Given the description of an element on the screen output the (x, y) to click on. 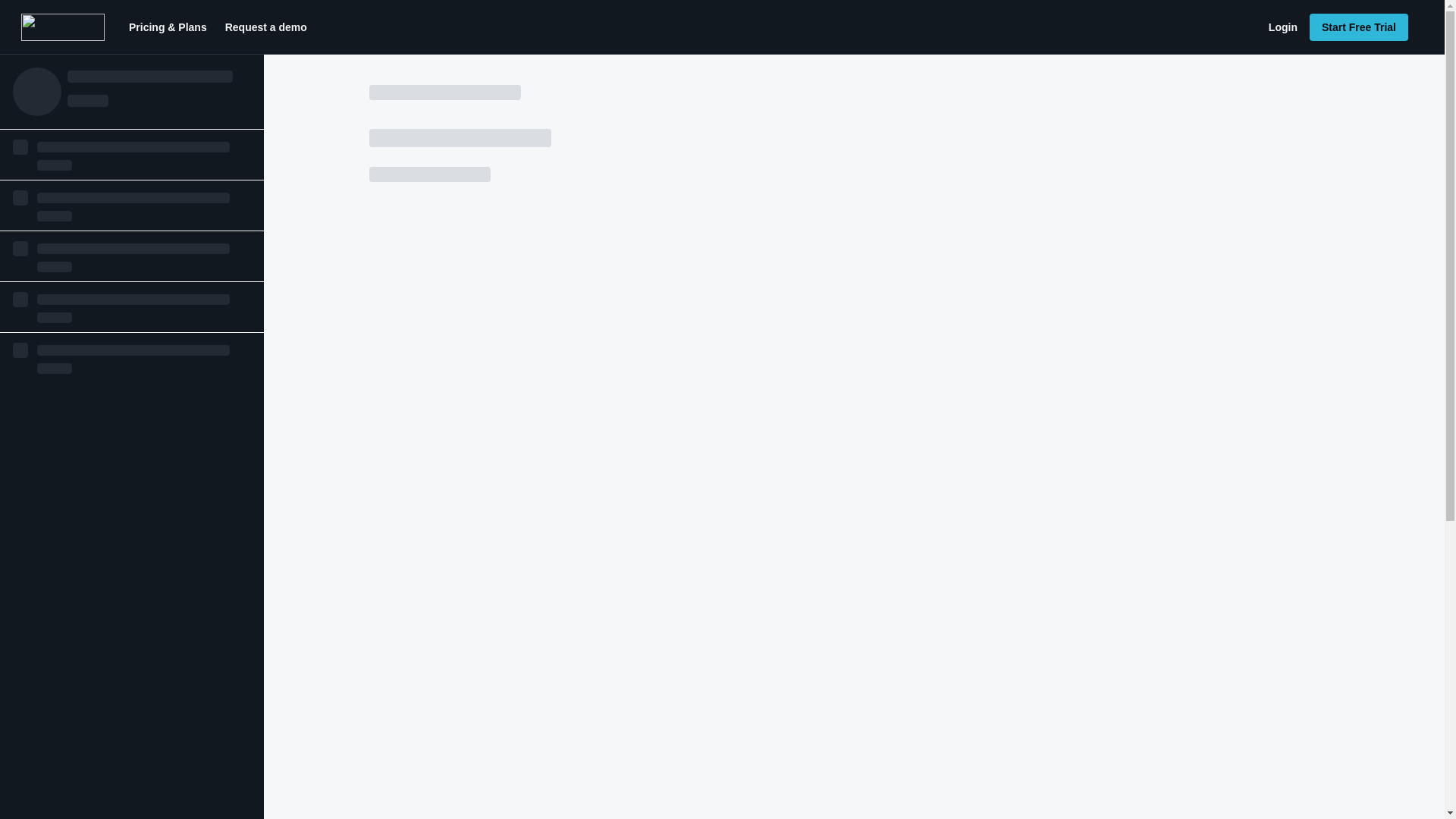
Login (1282, 26)
Request a demo (266, 26)
Start Free Trial (1357, 26)
